Given the description of an element on the screen output the (x, y) to click on. 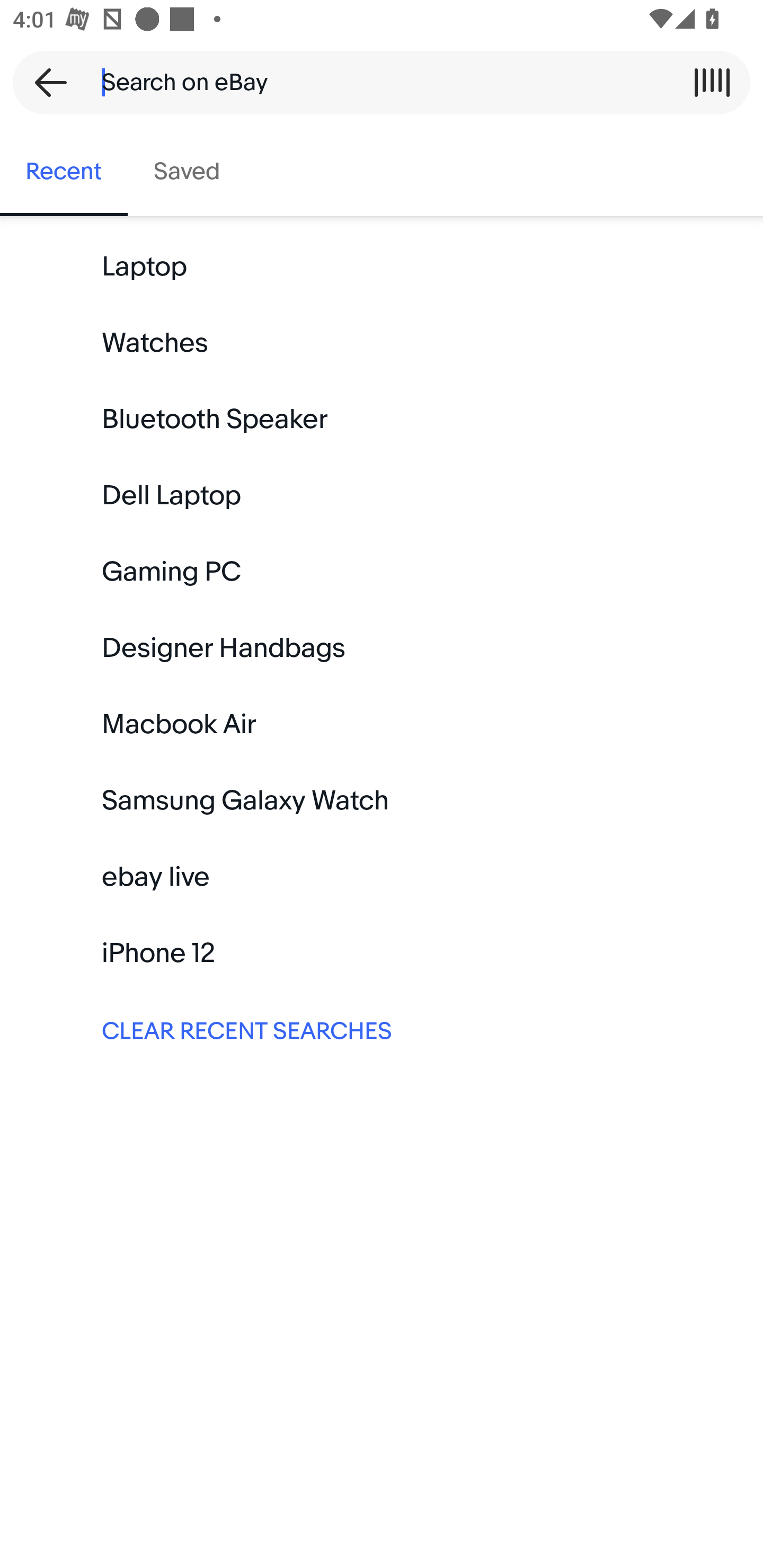
Back (44, 82)
Scan a barcode (711, 82)
Search on eBay (375, 82)
Saved, tab 2 of 2 Saved (186, 171)
Laptop Keyword search Laptop: (381, 266)
Watches Keyword search Watches: (381, 343)
Dell Laptop Keyword search Dell Laptop: (381, 495)
Gaming PC Keyword search Gaming PC: (381, 571)
Macbook Air Keyword search Macbook Air: (381, 724)
ebay live Keyword search ebay live: (381, 876)
iPhone 12 Keyword search iPhone 12: (381, 952)
CLEAR RECENT SEARCHES (381, 1028)
